Given the description of an element on the screen output the (x, y) to click on. 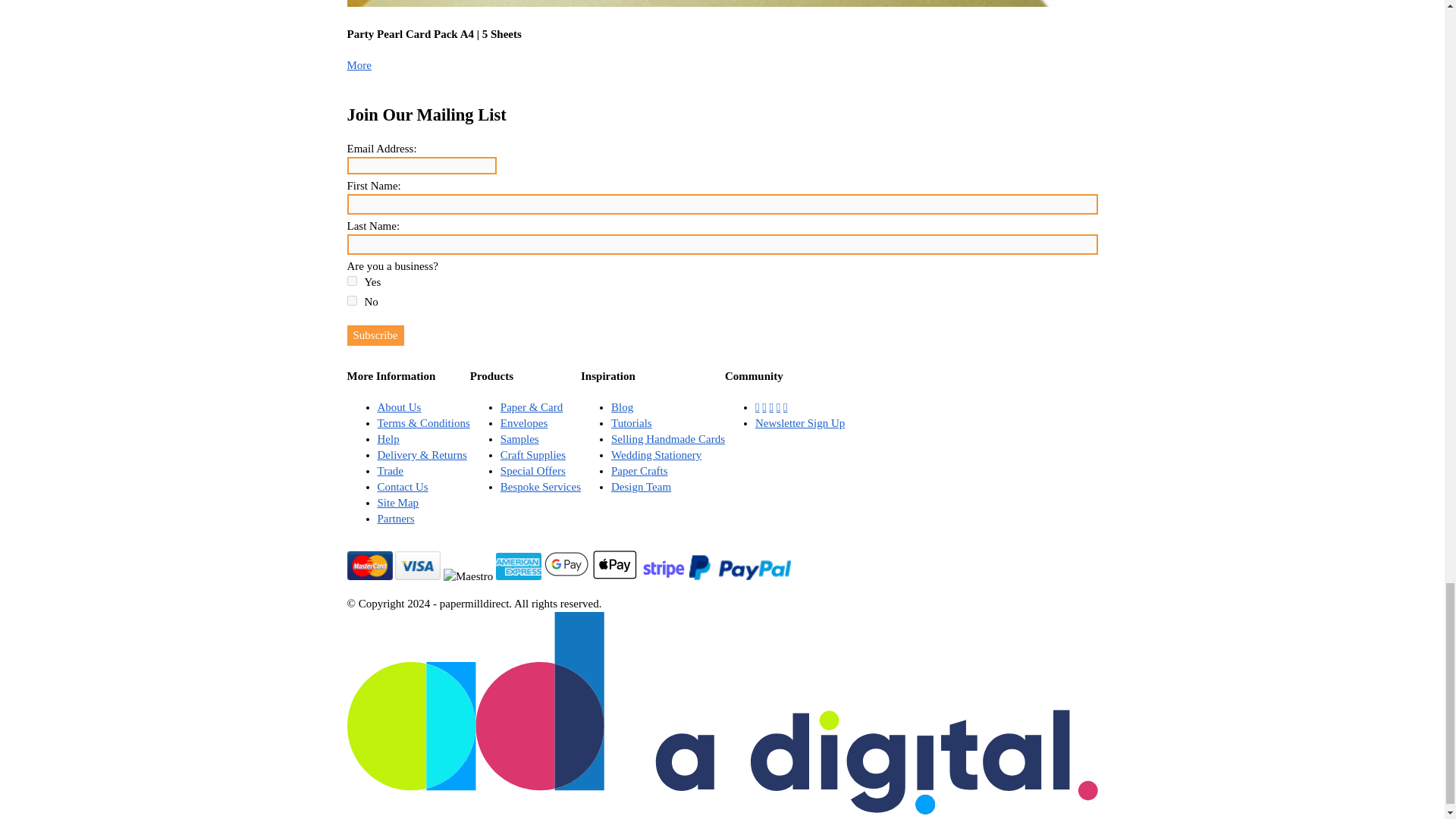
16 (351, 280)
32 (351, 300)
Subscribe (375, 335)
